Given the description of an element on the screen output the (x, y) to click on. 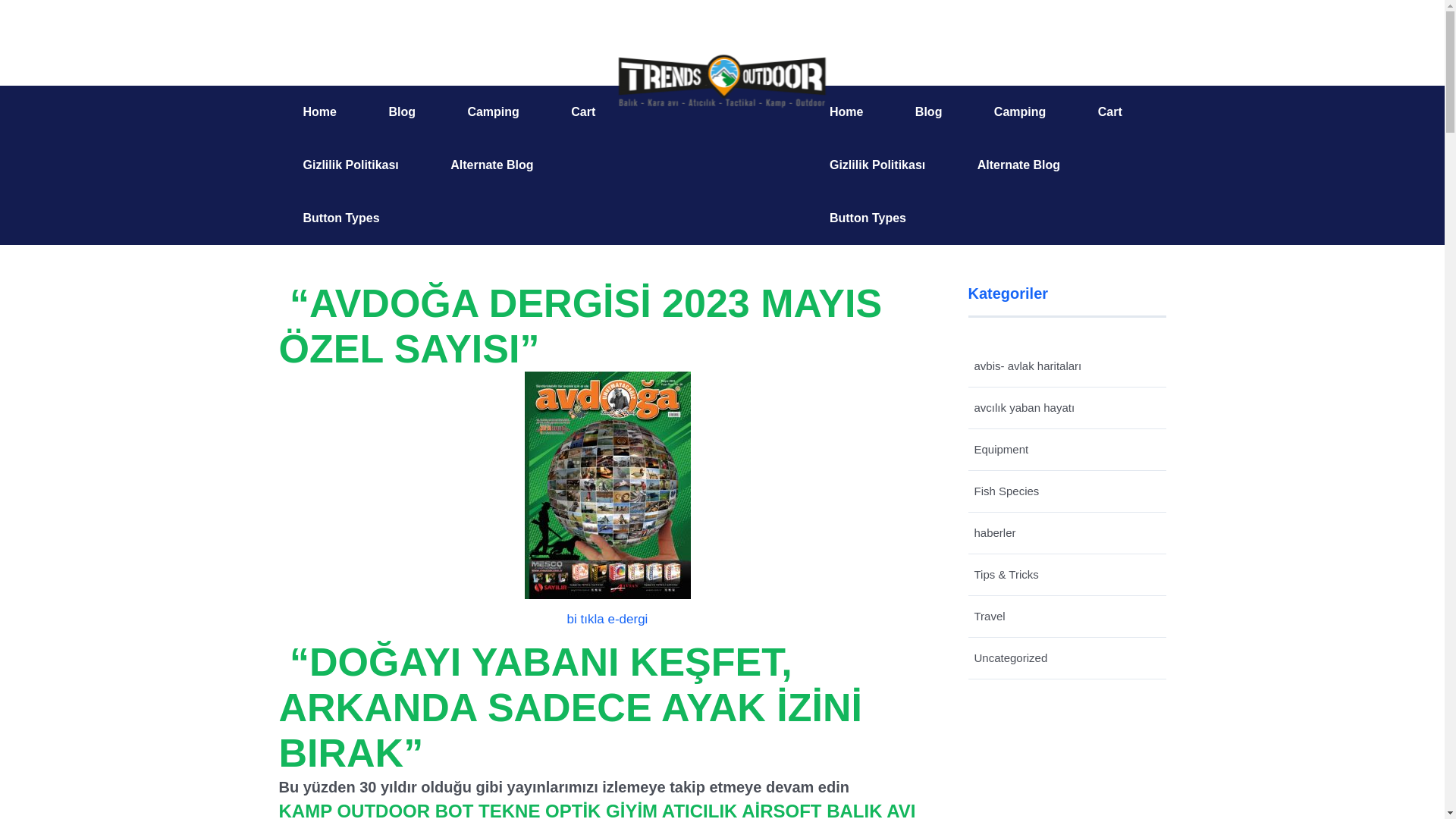
Blog (401, 111)
Button Types (341, 217)
Alternate Blog (491, 164)
Blog (928, 111)
Home (845, 111)
Camping (492, 111)
Camping (1019, 111)
Cart (1110, 111)
TRENDS OUTDOOR (722, 81)
Cart (583, 111)
Home (320, 111)
